Given the description of an element on the screen output the (x, y) to click on. 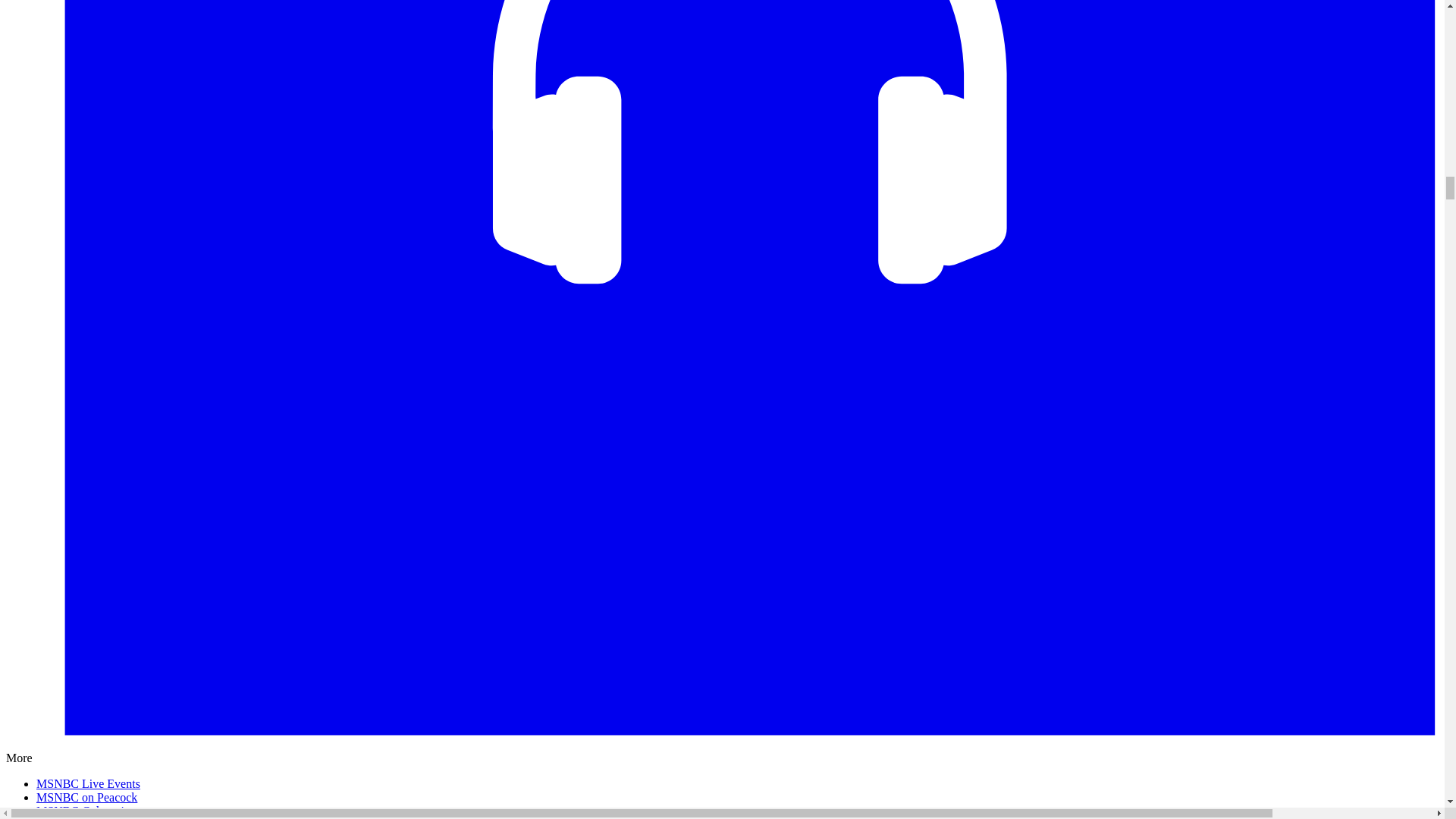
MSNBC Live Events (87, 783)
MSNBC on Peacock (86, 797)
